Given the description of an element on the screen output the (x, y) to click on. 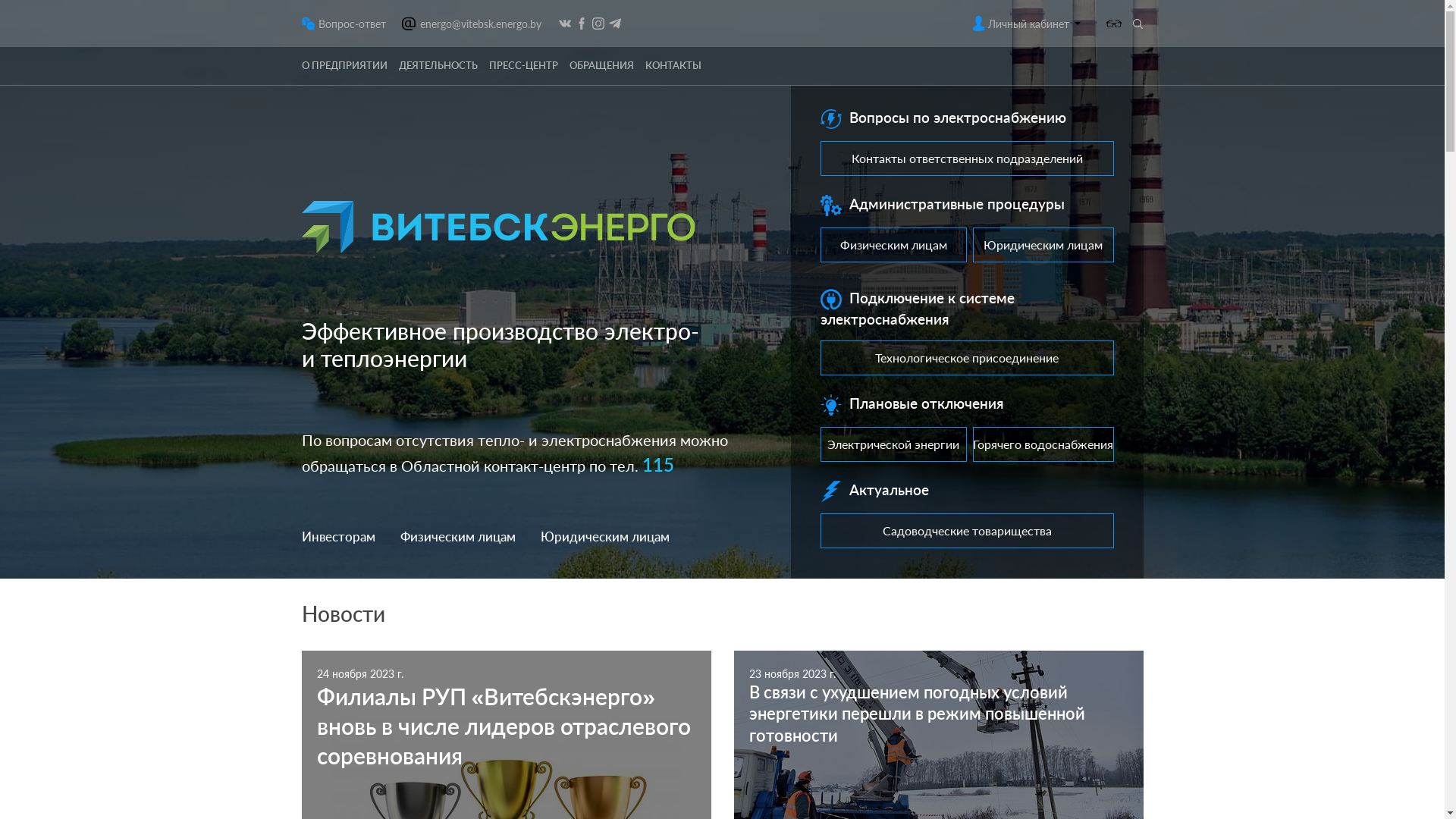
energo@vitebsk.energo.by Element type: text (480, 23)
